Given the description of an element on the screen output the (x, y) to click on. 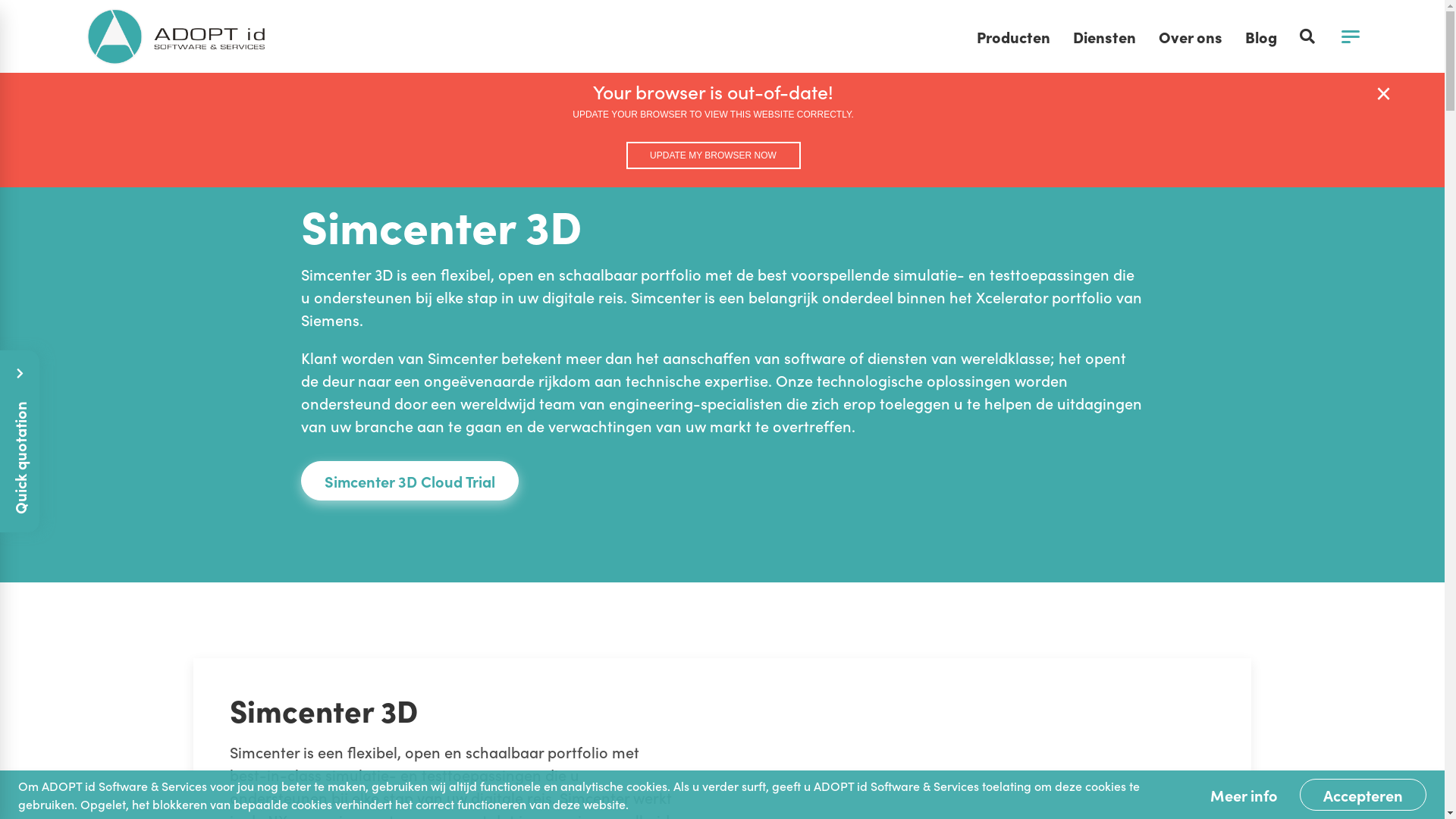
Home Element type: text (318, 161)
Over ons Element type: text (1189, 36)
Zoeken Element type: hover (1306, 36)
Meer info Element type: text (1243, 794)
Simcenter 3D Cloud Trial Element type: text (409, 480)
Blog Element type: text (1260, 36)
Diensten Element type: text (1104, 36)
Quick quotation Element type: text (91, 369)
Terug naar hoofdpagina Element type: hover (175, 35)
Producten Element type: text (381, 161)
Producten Element type: text (1012, 36)
UPDATE MY BROWSER NOW Element type: text (713, 155)
